Given the description of an element on the screen output the (x, y) to click on. 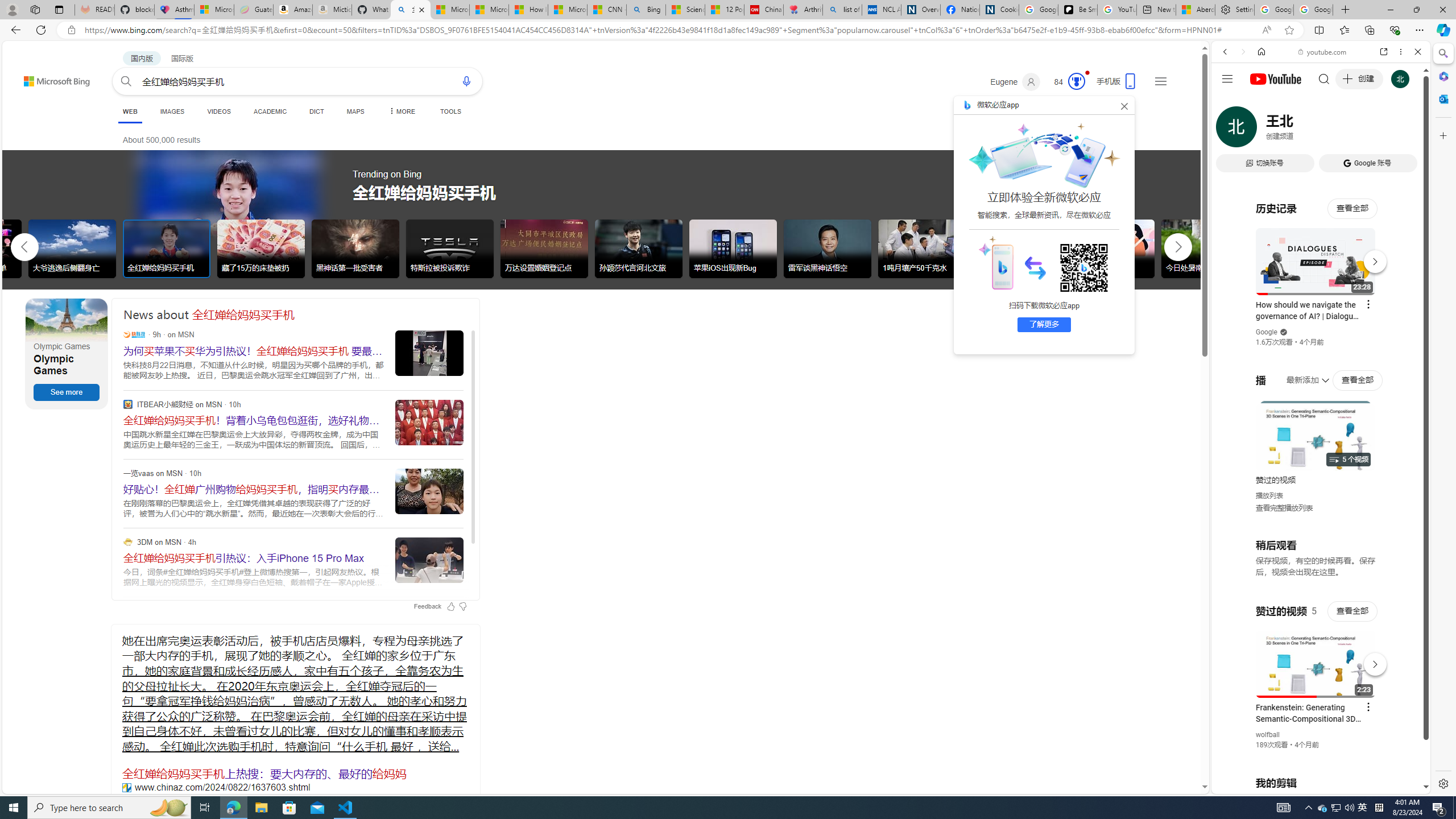
Be Smart | creating Science videos | Patreon (1077, 9)
Tab actions menu (58, 9)
Search Filter, Search Tools (1350, 129)
Click to scroll right (1407, 456)
Web scope (1230, 102)
AutomationID: tob_right_arrow (1177, 246)
Search videos from youtube.com (1299, 373)
